Given the description of an element on the screen output the (x, y) to click on. 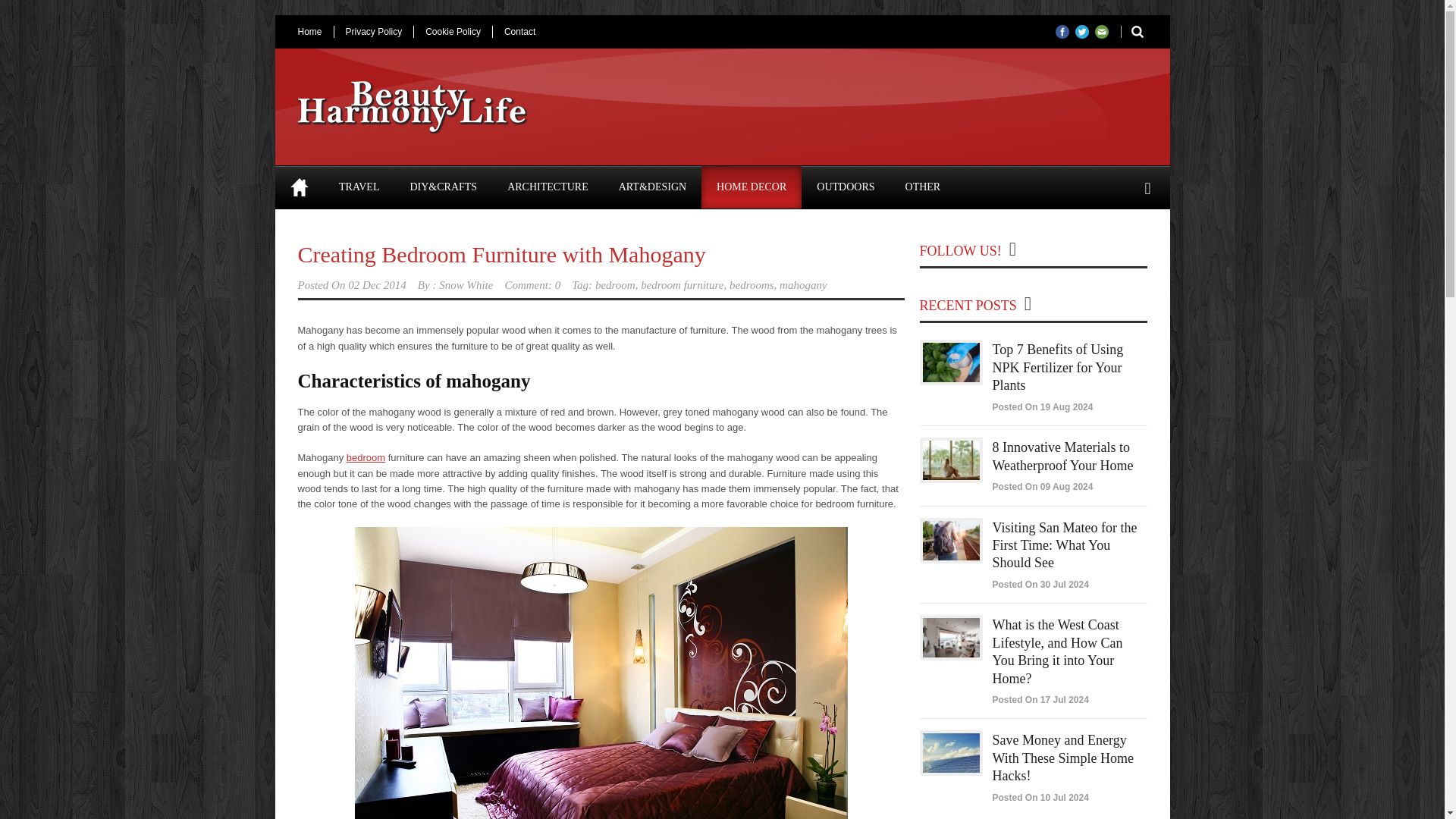
ARCHITECTURE (548, 187)
Search submit (1131, 31)
bedrooms (751, 285)
TRAVEL (358, 187)
Home (315, 31)
bedroom (614, 285)
Home (299, 187)
OUTDOORS (845, 187)
Cookie Policy (452, 31)
